Given the description of an element on the screen output the (x, y) to click on. 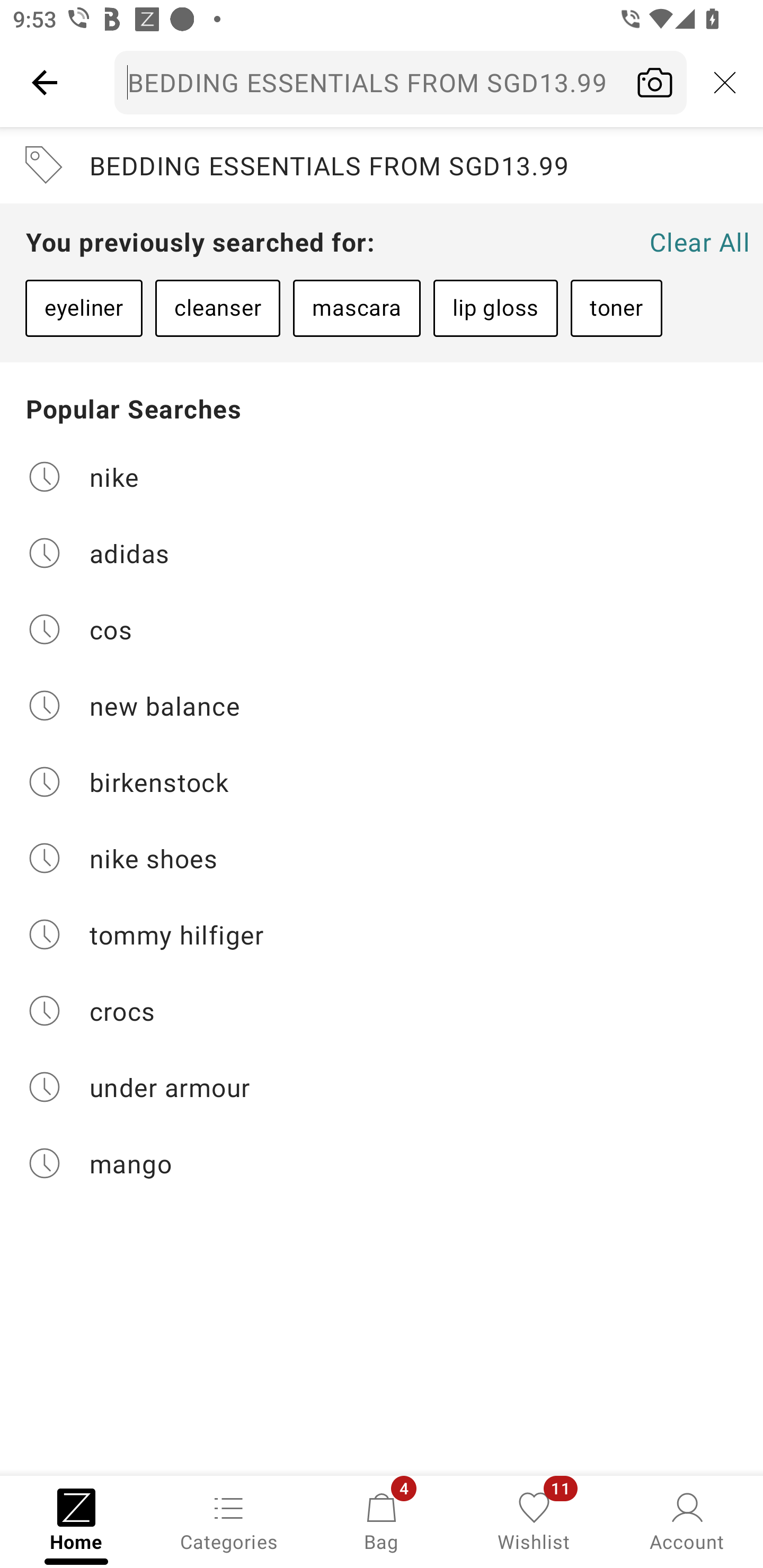
Navigate up (44, 82)
BEDDING ESSENTIALS FROM SGD13.99 (400, 82)
BEDDING ESSENTIALS FROM SGD13.99 (381, 165)
Clear All (699, 241)
eyeliner (83, 308)
cleanser (217, 308)
mascara (356, 308)
lip gloss (495, 308)
toner (616, 308)
nike (381, 476)
adidas (381, 552)
cos (381, 629)
new balance (381, 705)
birkenstock (381, 781)
nike shoes (381, 858)
tommy hilfiger (381, 934)
crocs (381, 1010)
under armour (381, 1086)
mango (381, 1163)
Categories (228, 1519)
Bag, 4 new notifications Bag (381, 1519)
Wishlist, 11 new notifications Wishlist (533, 1519)
Account (686, 1519)
